Given the description of an element on the screen output the (x, y) to click on. 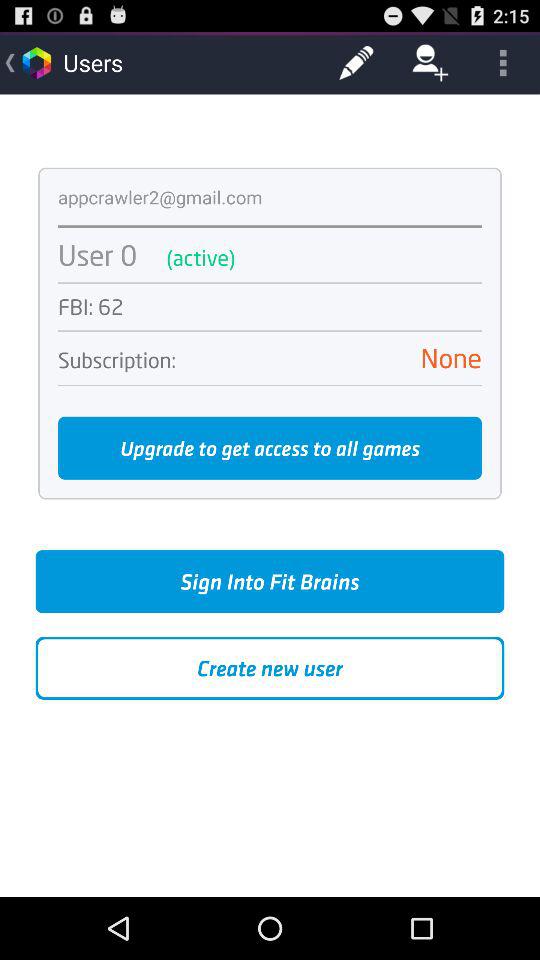
launch the fbi: 62 icon (269, 306)
